Given the description of an element on the screen output the (x, y) to click on. 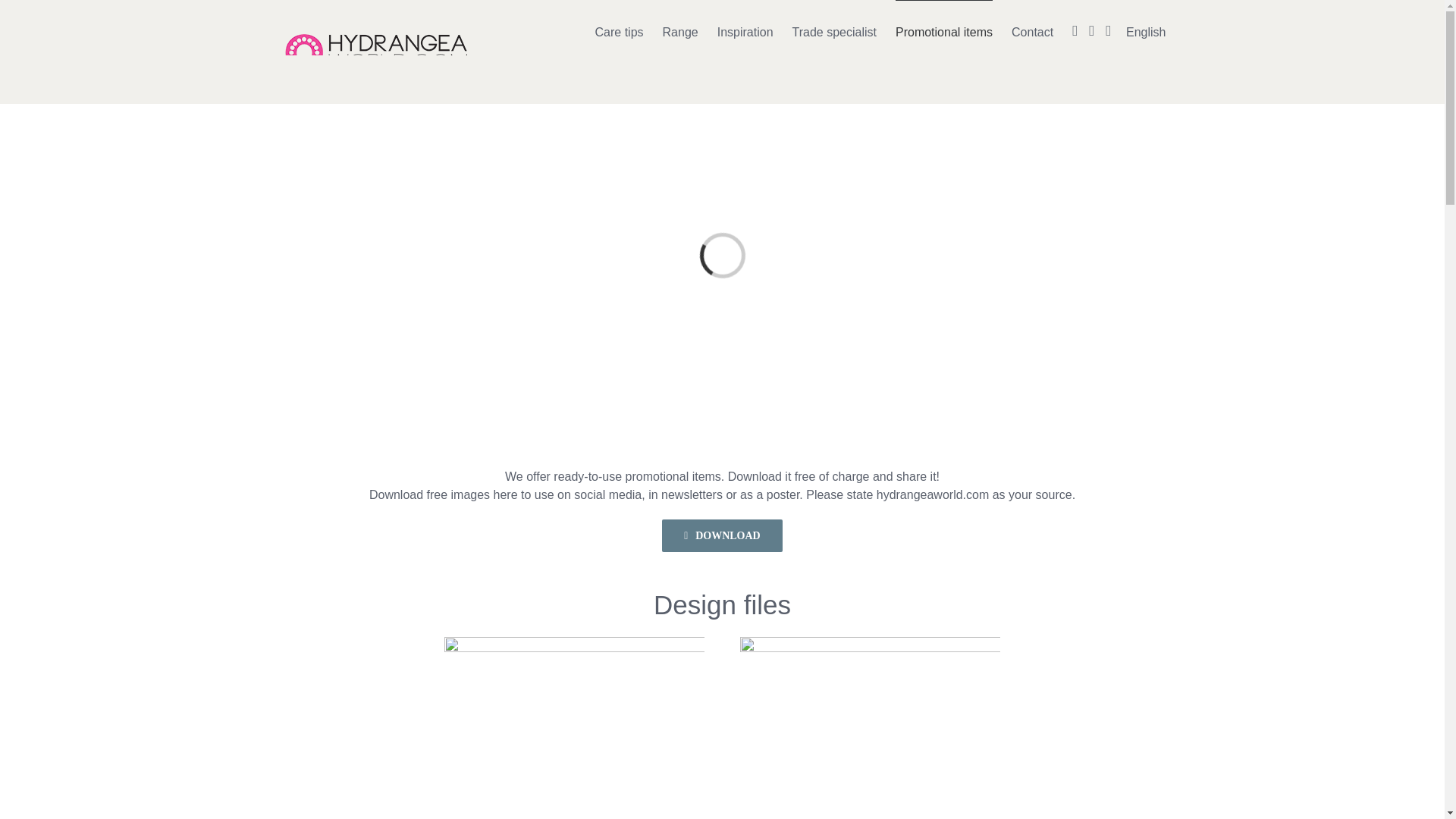
Trade specialist (834, 31)
Promotional items (943, 31)
design-file-cover24 (574, 728)
DOWNLOAD (721, 535)
